Given the description of an element on the screen output the (x, y) to click on. 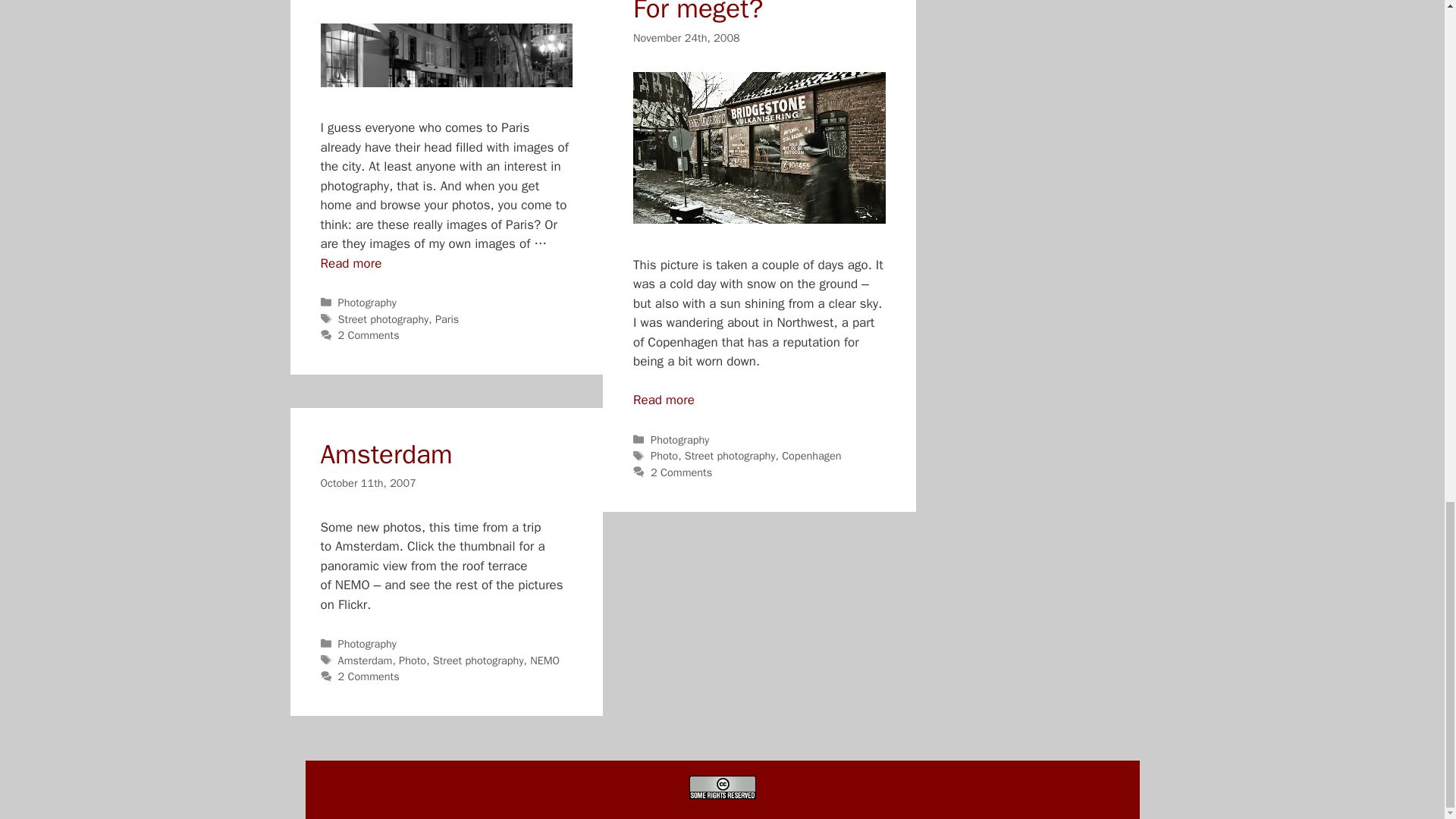
For meget? (663, 399)
Klik for info om ophavsret (721, 787)
